Given the description of an element on the screen output the (x, y) to click on. 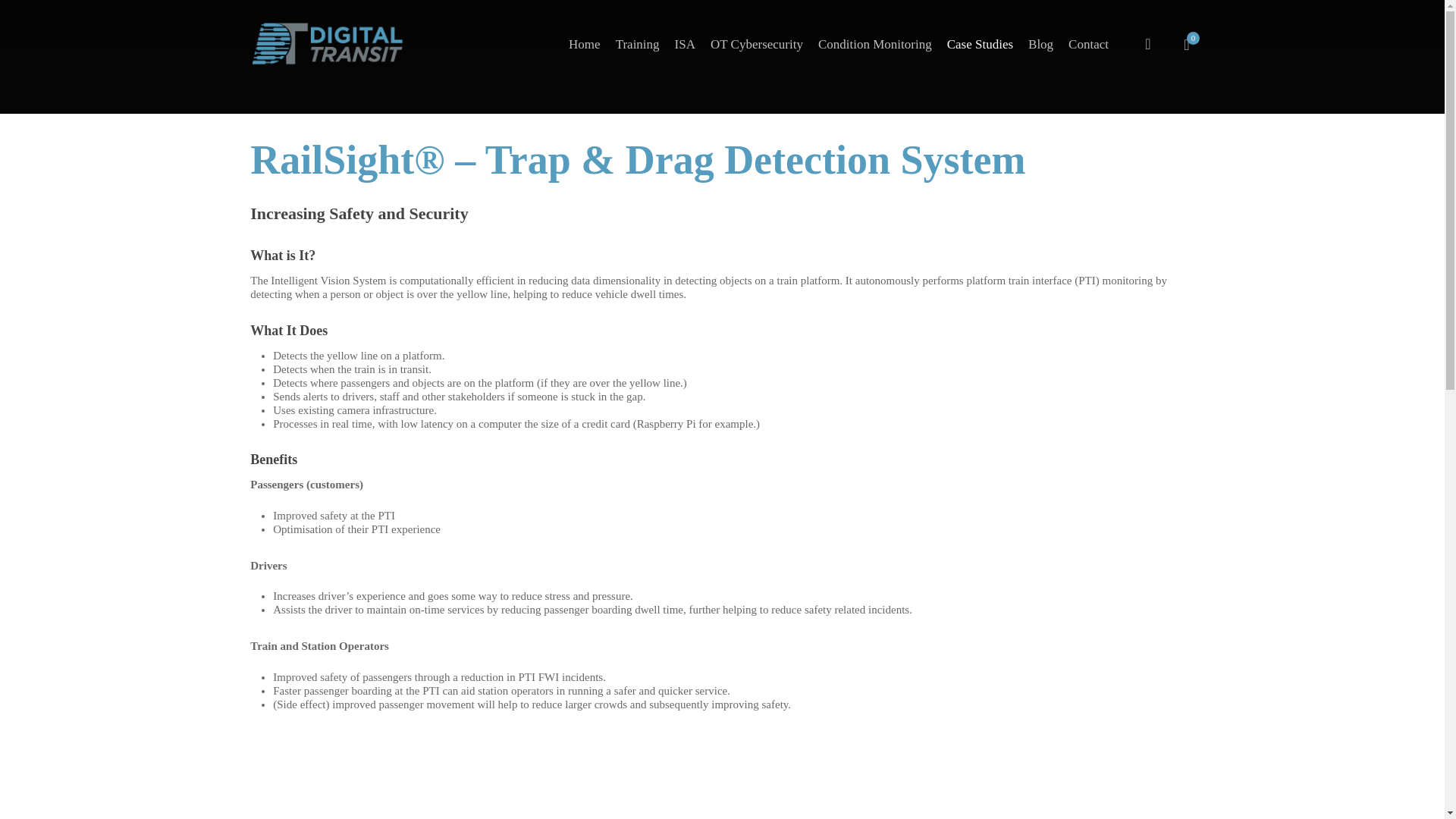
0 (1185, 43)
OT Cybersecurity (756, 43)
Case Studies (979, 43)
Contact (1088, 43)
Condition Monitoring (874, 43)
search (1147, 44)
Home (584, 43)
ISA (684, 43)
Blog (1040, 43)
Training (637, 43)
